Given the description of an element on the screen output the (x, y) to click on. 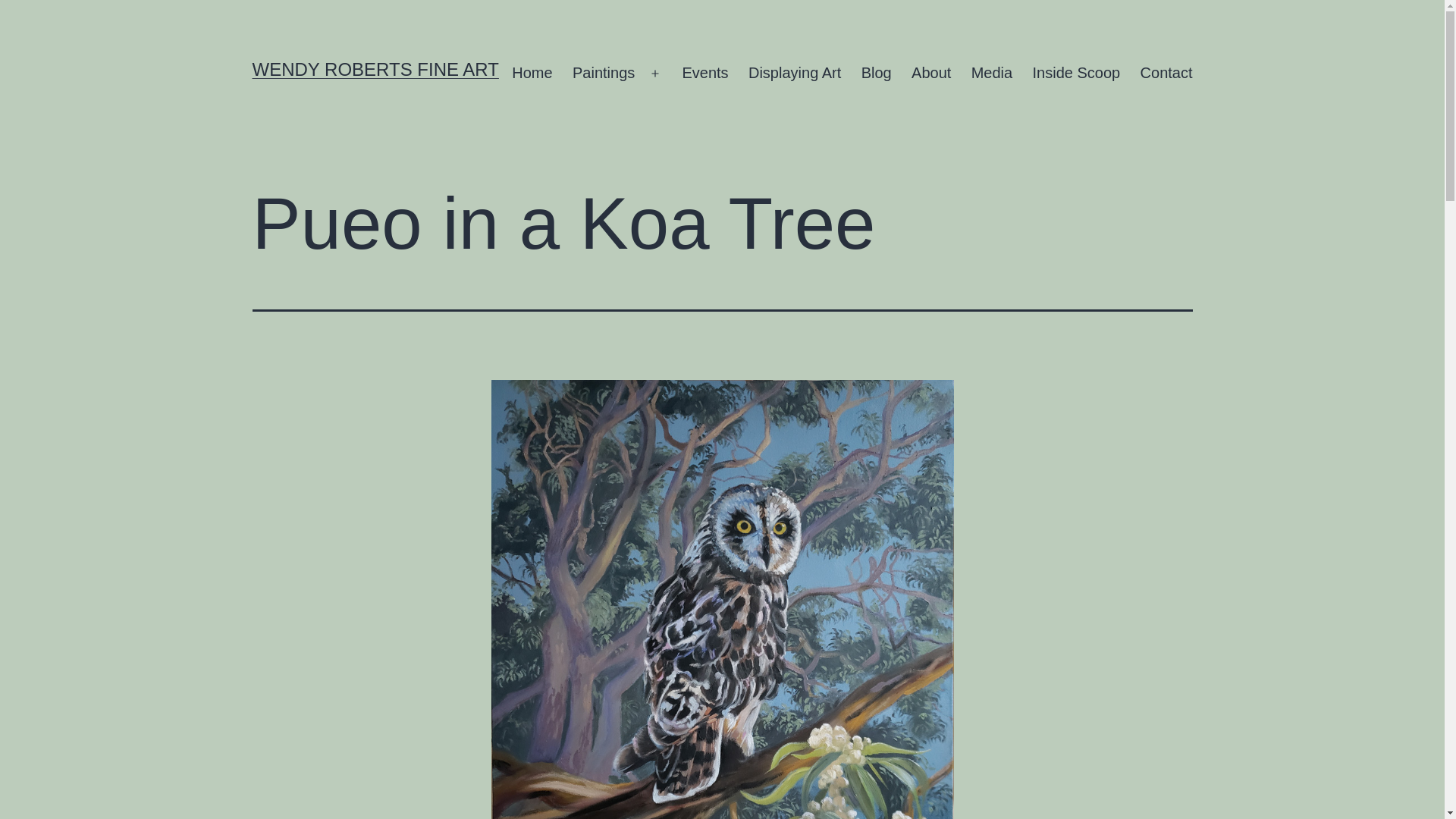
Paintings (603, 73)
Displaying Art (794, 73)
Events (704, 73)
WENDY ROBERTS FINE ART (374, 68)
Contact (1165, 73)
Media (991, 73)
Inside Scoop (1075, 73)
About (930, 73)
Home (532, 73)
Blog (875, 73)
